Given the description of an element on the screen output the (x, y) to click on. 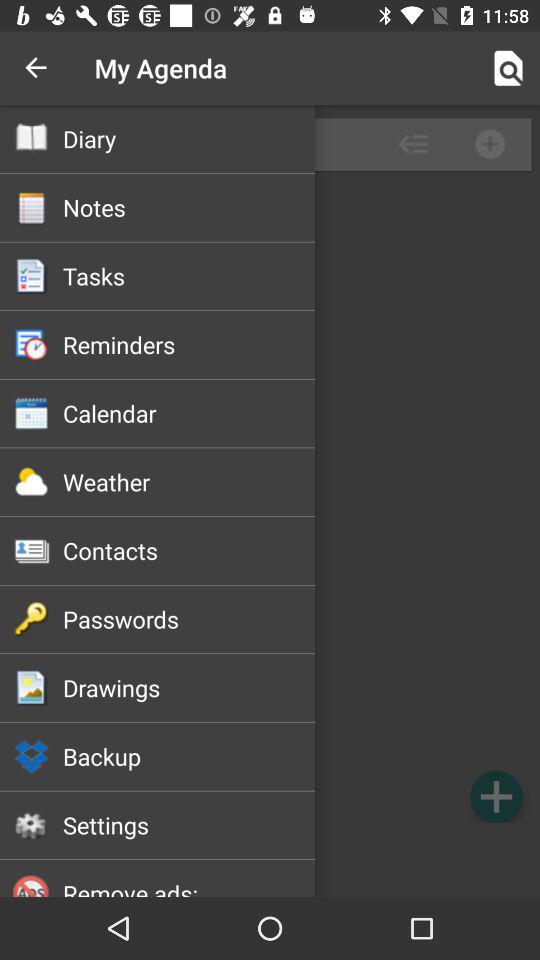
turn off item above backup (188, 687)
